Given the description of an element on the screen output the (x, y) to click on. 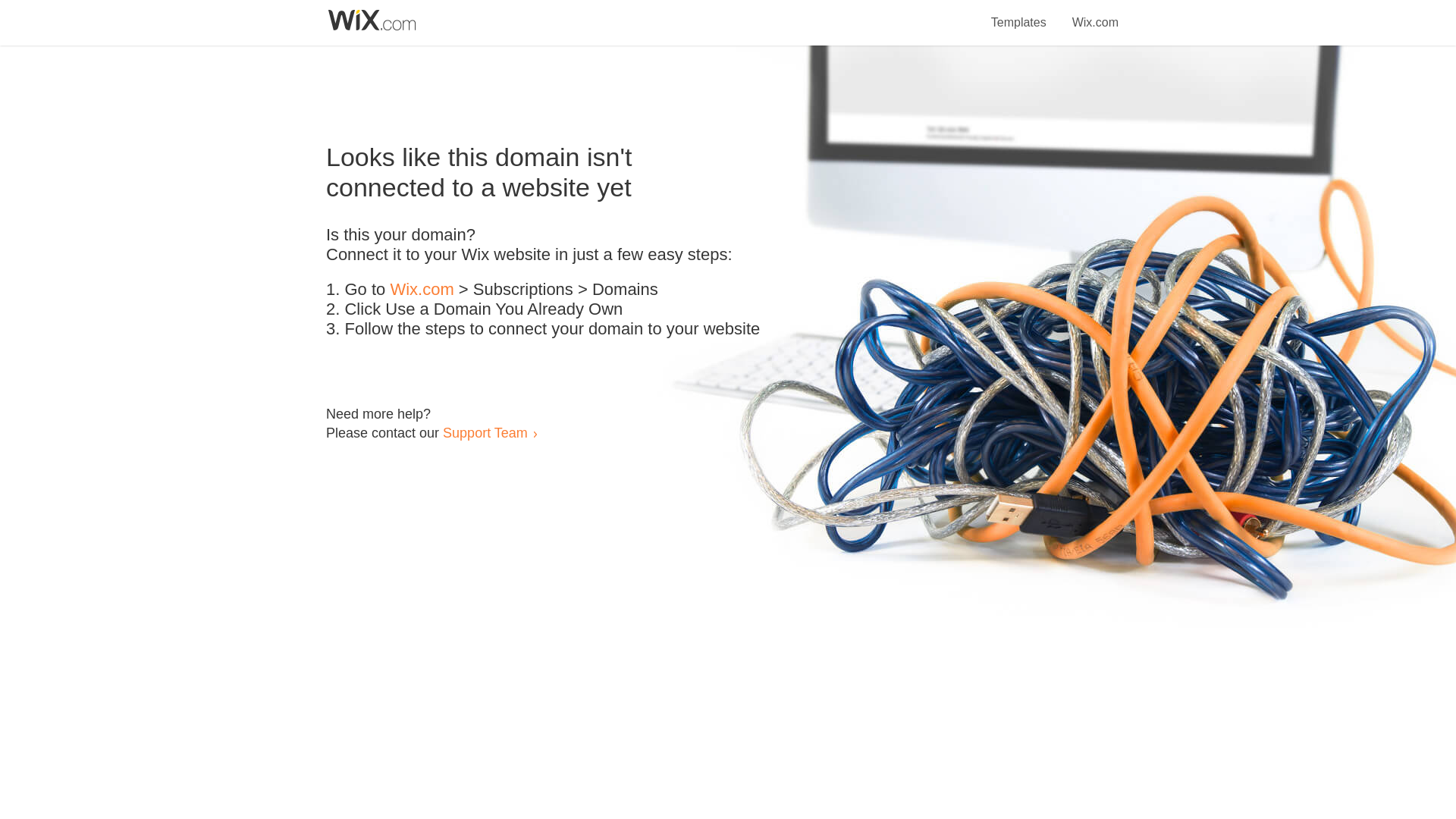
Support Team (484, 432)
Wix.com (1095, 14)
Templates (1018, 14)
Wix.com (421, 289)
